Given the description of an element on the screen output the (x, y) to click on. 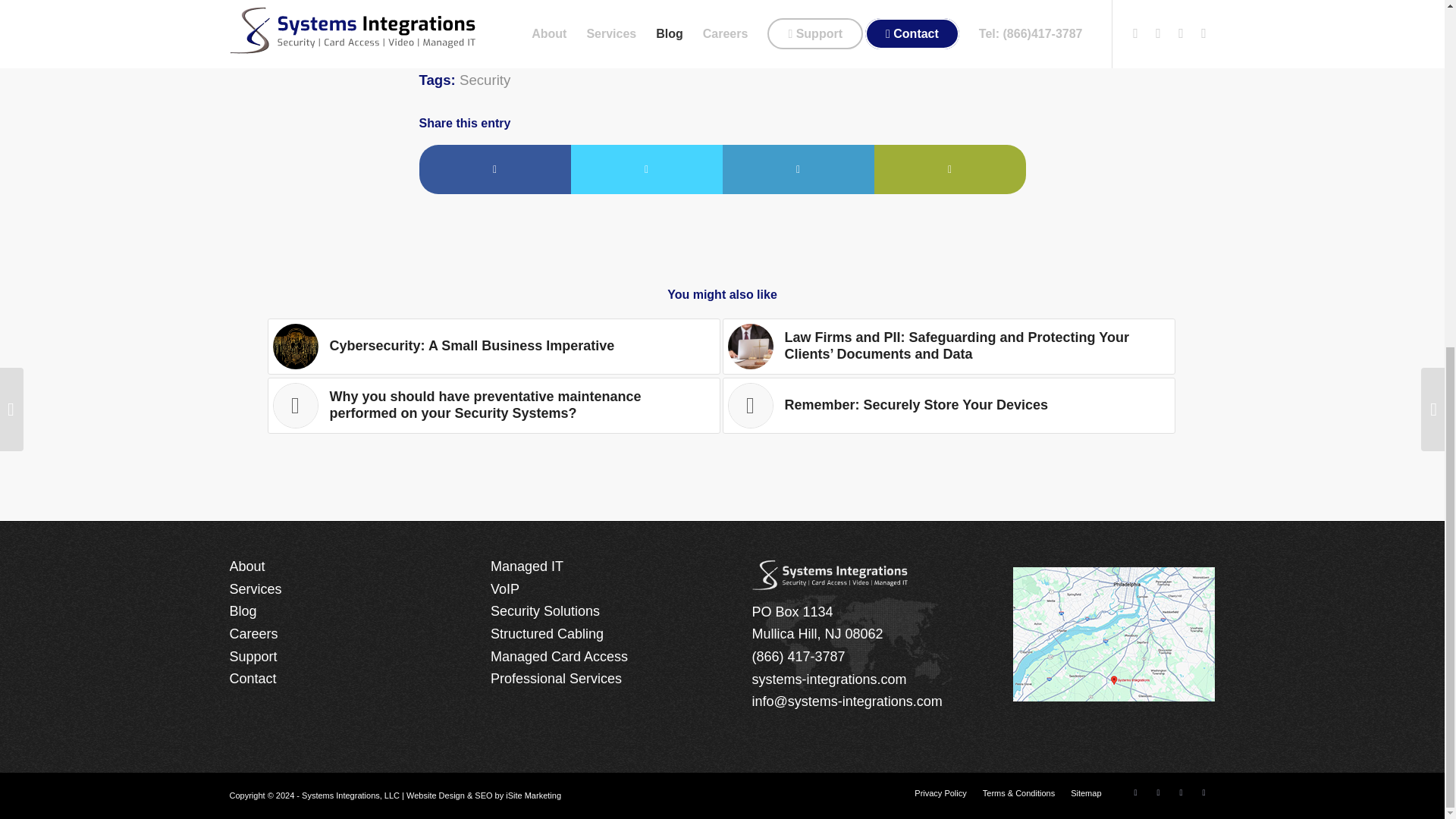
Cybersecurity: A Small Business Imperative (492, 346)
Security (485, 79)
